Given the description of an element on the screen output the (x, y) to click on. 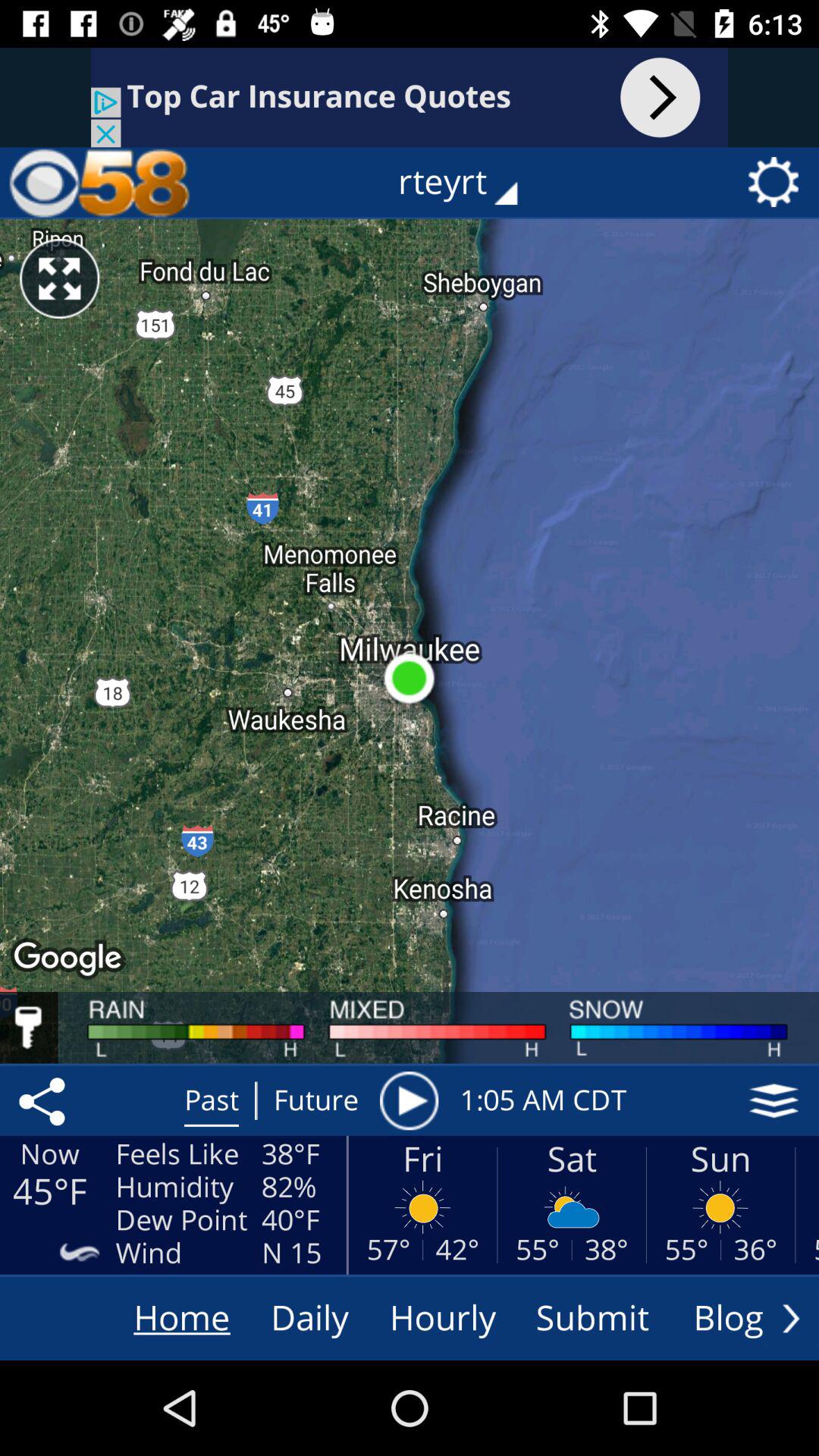
visit website (409, 97)
